Given the description of an element on the screen output the (x, y) to click on. 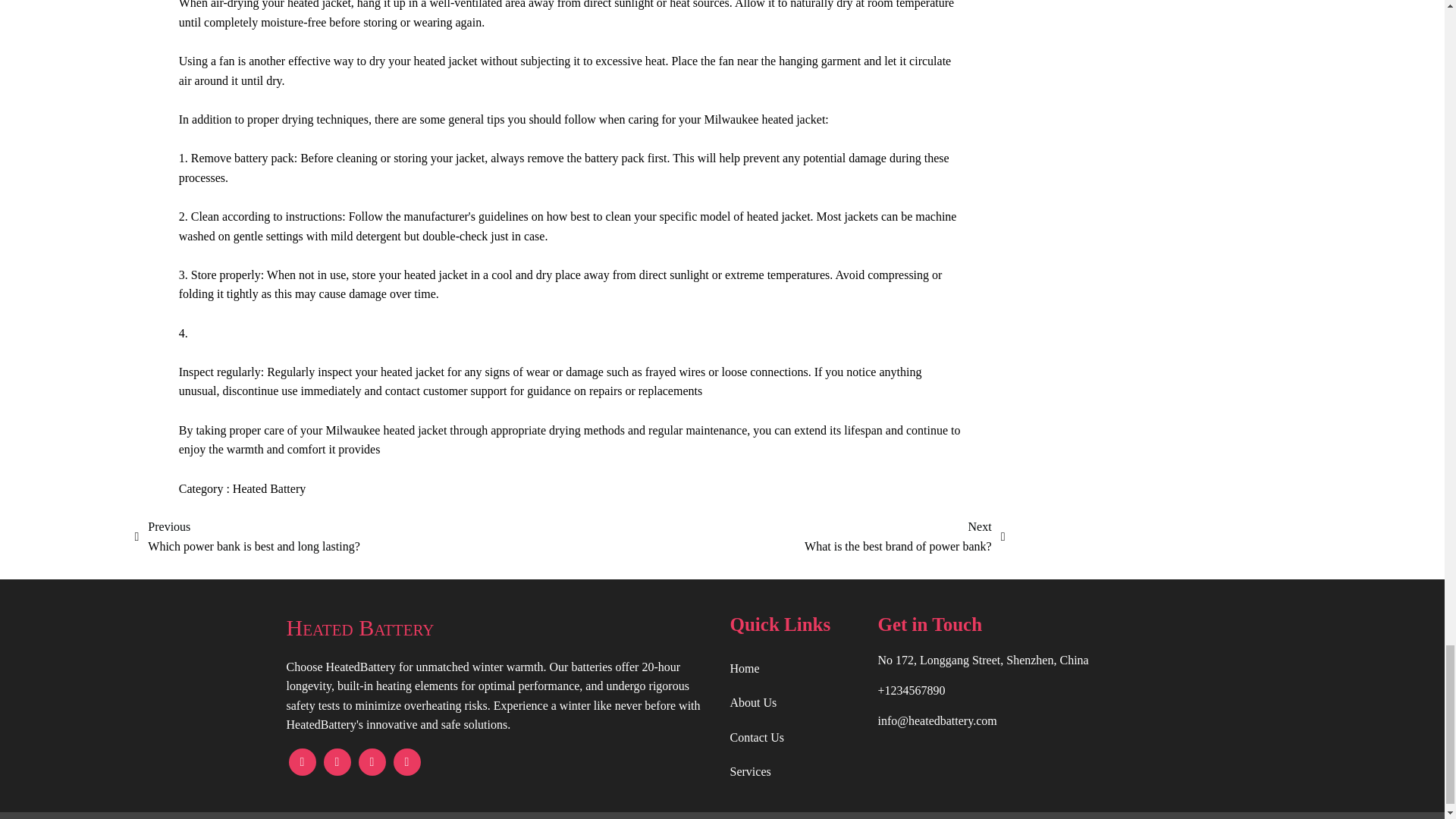
Heated Battery (268, 488)
